Given the description of an element on the screen output the (x, y) to click on. 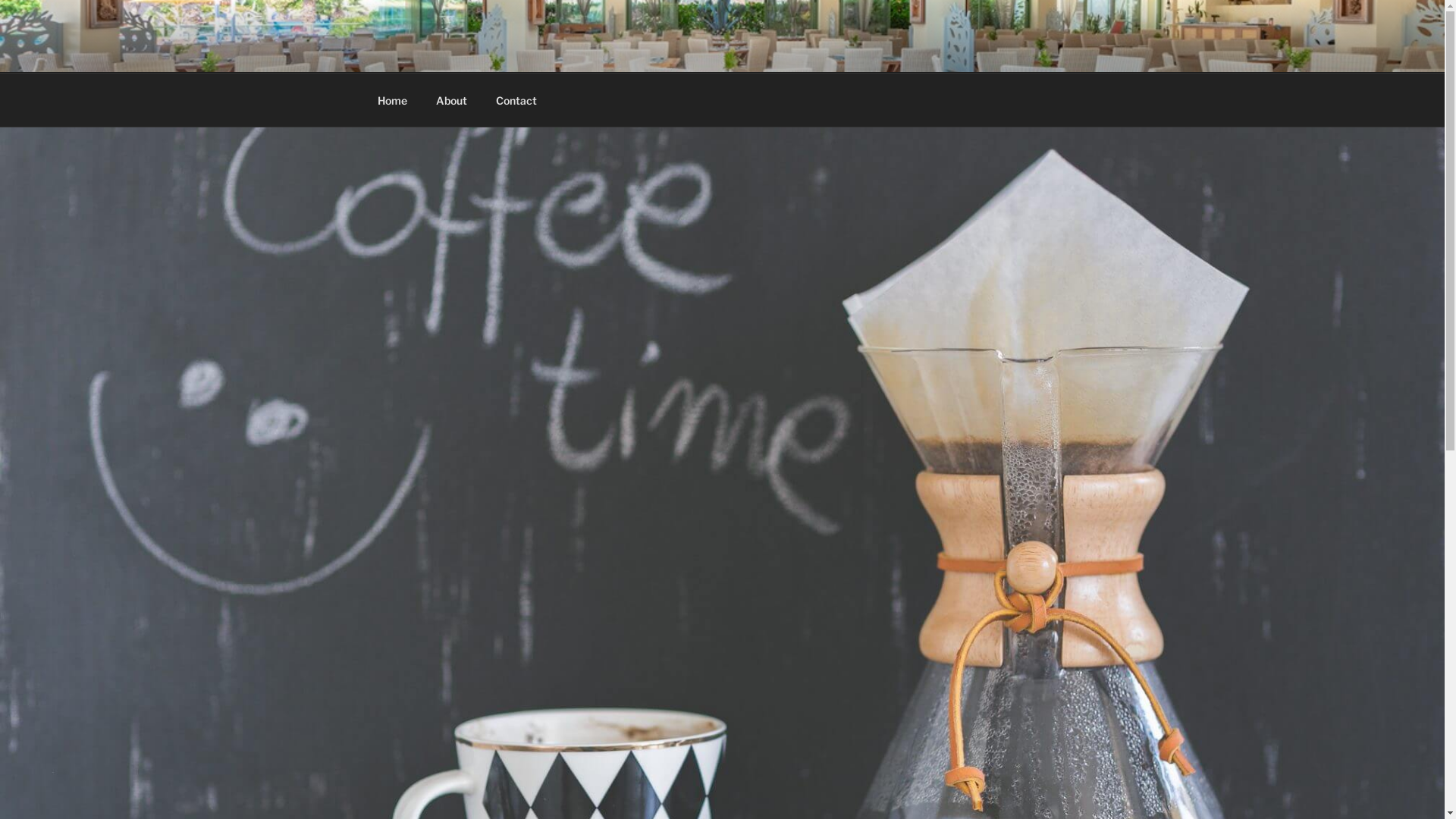
OLIO.COM.AU Element type: text (485, 52)
Skip to content Element type: text (0, 0)
Contact Element type: text (515, 100)
About Element type: text (451, 100)
Home Element type: text (392, 100)
